Given the description of an element on the screen output the (x, y) to click on. 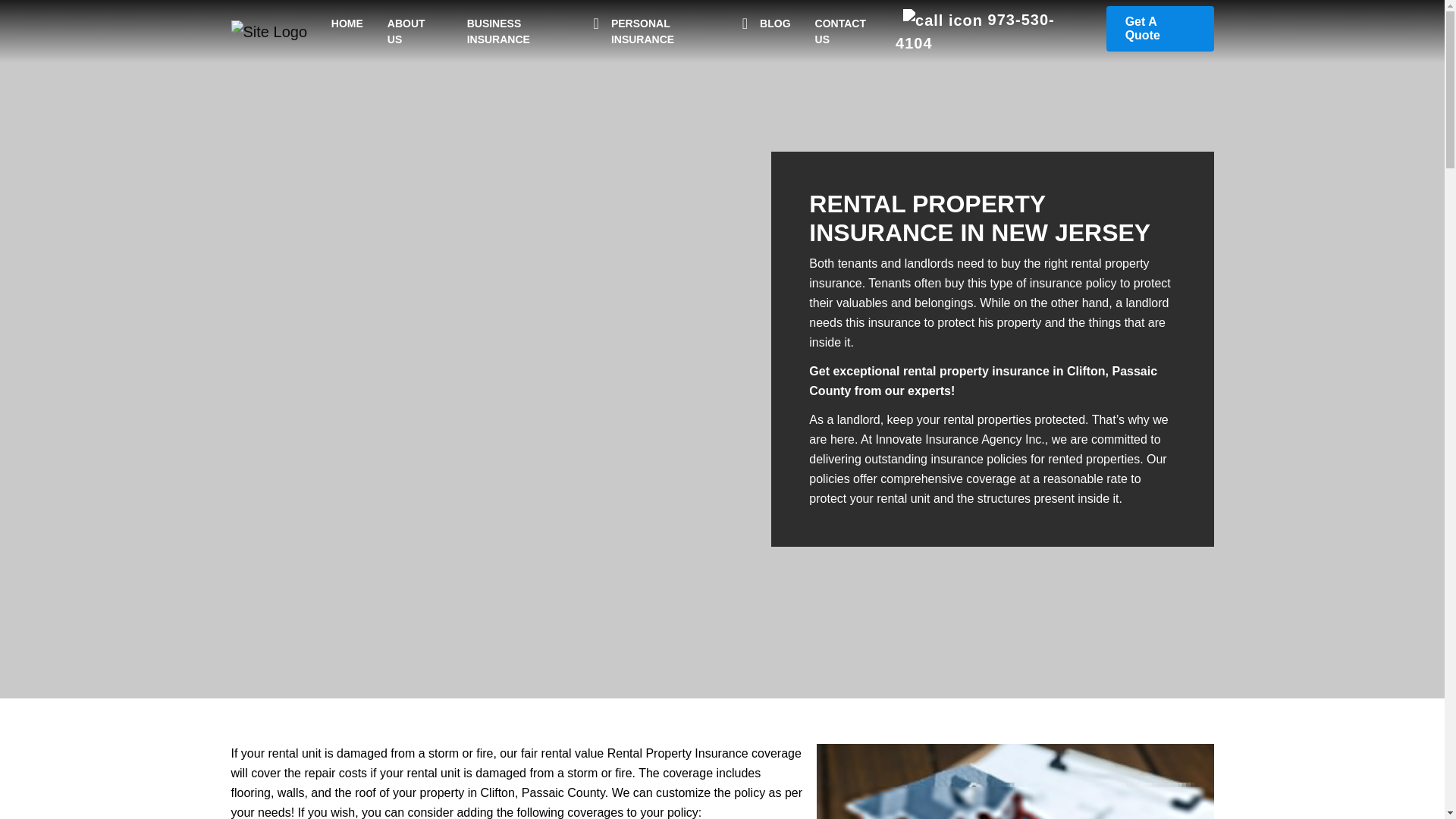
HOME (347, 23)
Get A Quote (1160, 28)
ABOUT US (414, 30)
PERSONAL INSURANCE (673, 30)
CONTACT US (849, 30)
BLOG (774, 23)
BUSINESS INSURANCE (527, 30)
973-530-4104 (974, 31)
